Given the description of an element on the screen output the (x, y) to click on. 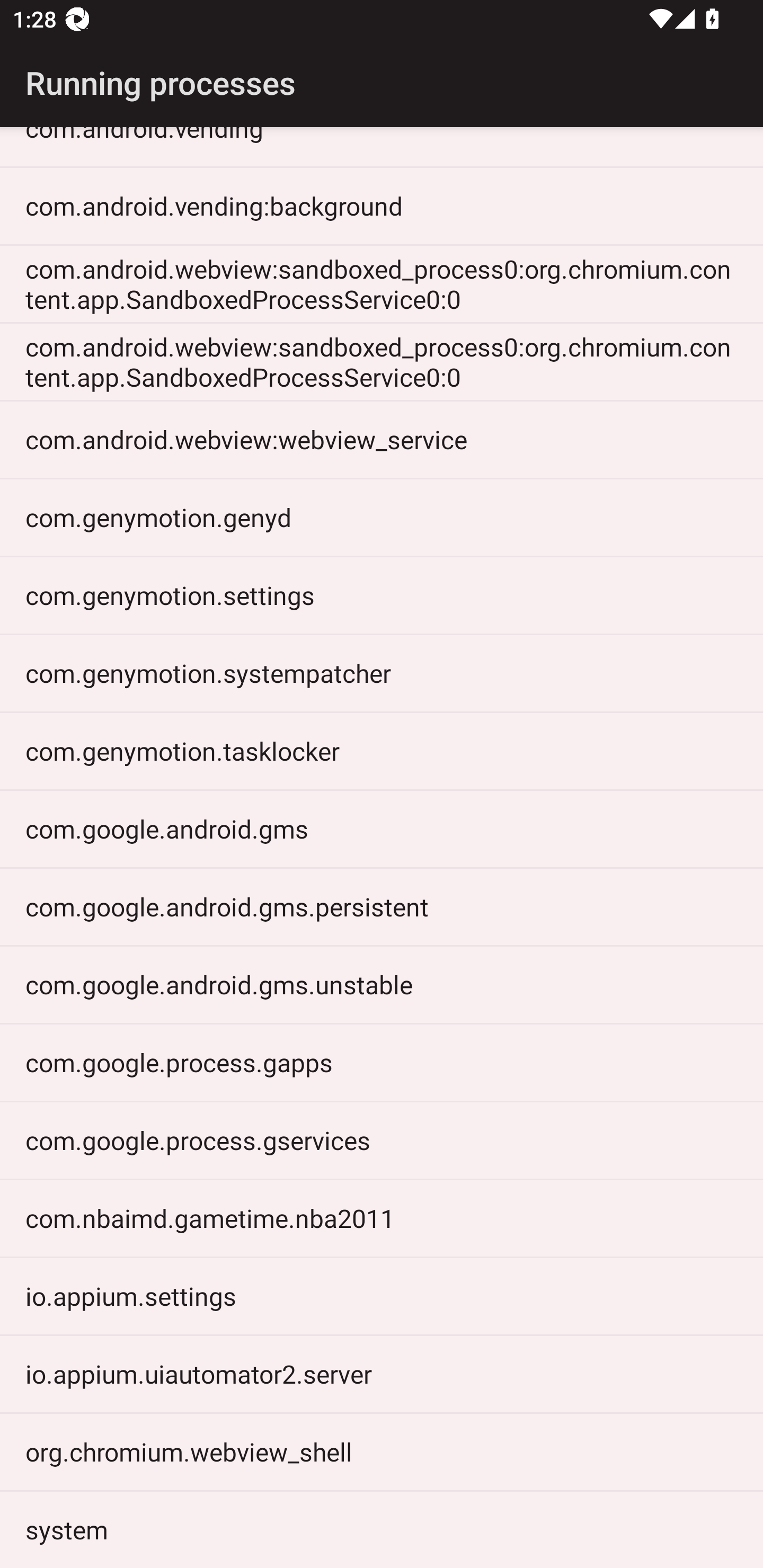
com.android.vending:background (381, 205)
com.android.webview:webview_service (381, 439)
com.genymotion.genyd (381, 517)
com.genymotion.settings (381, 594)
com.genymotion.systempatcher (381, 673)
com.genymotion.tasklocker (381, 750)
com.google.android.gms (381, 828)
com.google.android.gms.persistent (381, 906)
com.google.android.gms.unstable (381, 984)
com.google.process.gapps (381, 1061)
com.google.process.gservices (381, 1140)
com.nbaimd.gametime.nba2011 (381, 1217)
io.appium.settings (381, 1295)
io.appium.uiautomator2.server (381, 1373)
org.chromium.webview_shell (381, 1451)
system (381, 1529)
